Given the description of an element on the screen output the (x, y) to click on. 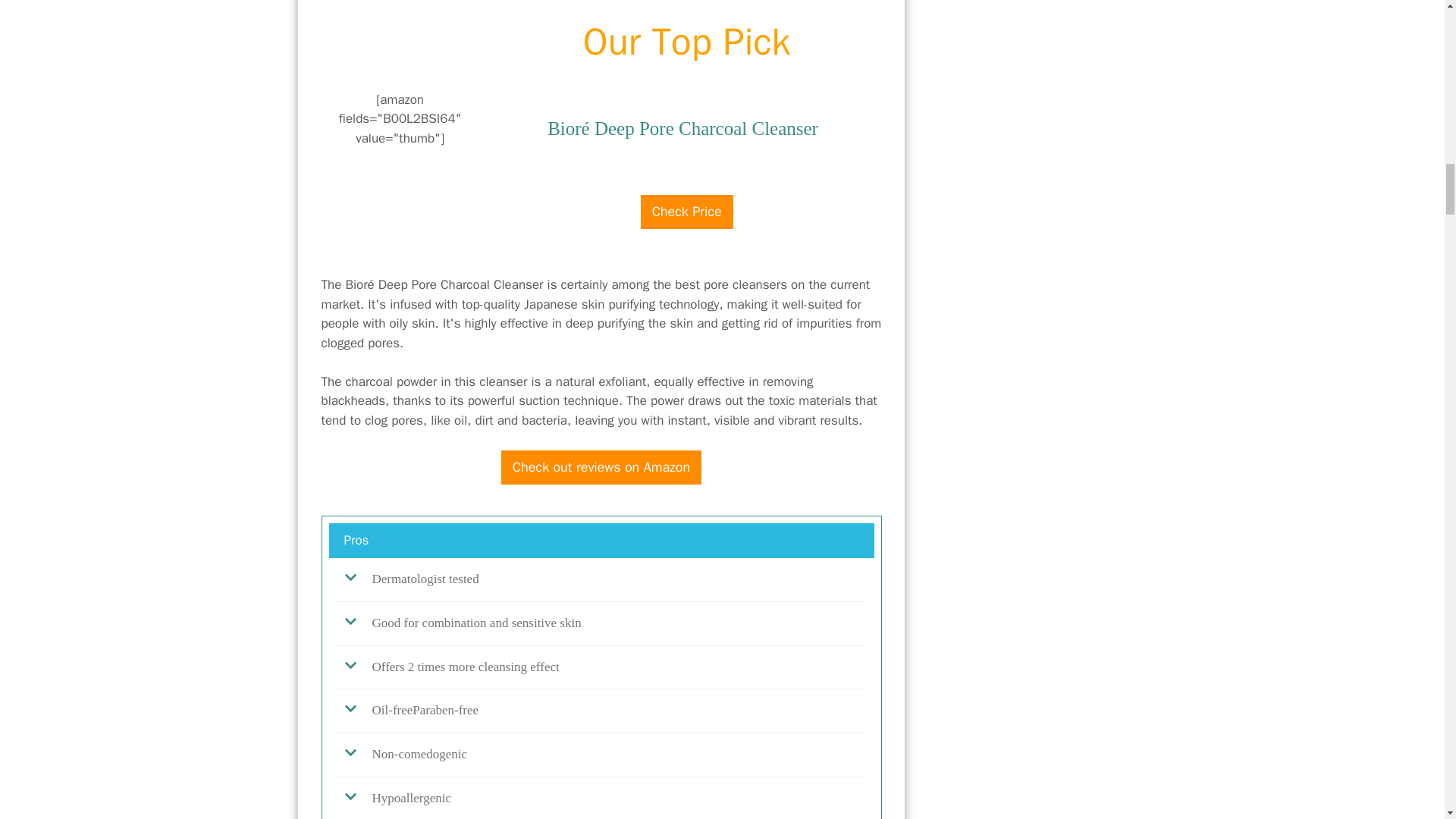
amazon (686, 186)
